Given the description of an element on the screen output the (x, y) to click on. 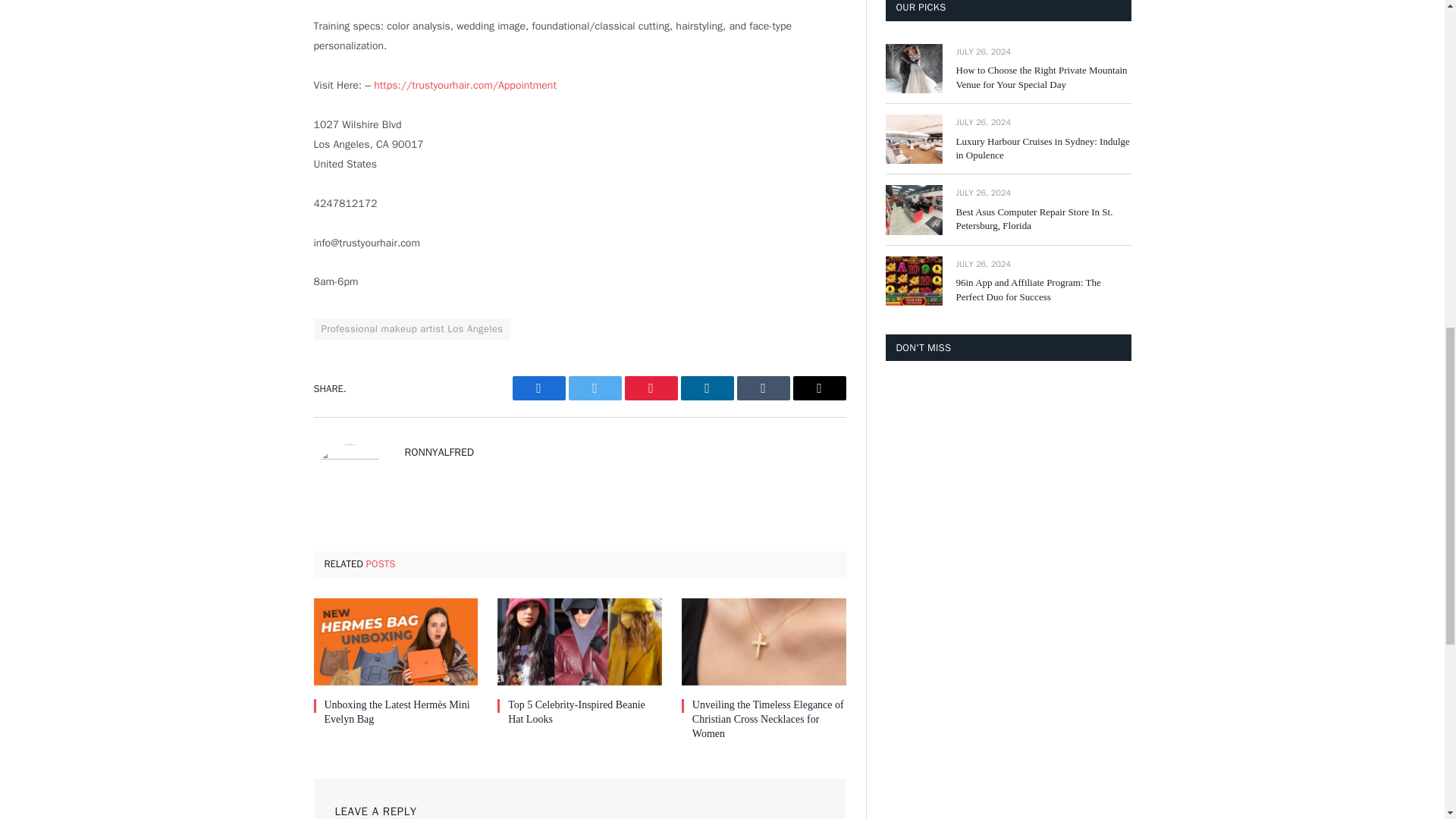
Professional makeup artist Los Angeles (412, 328)
Share on Facebook (539, 387)
LinkedIn (707, 387)
Twitter (595, 387)
Pinterest (651, 387)
Email (819, 387)
RONNYALFRED (439, 452)
Facebook (539, 387)
Tumblr (763, 387)
